Given the description of an element on the screen output the (x, y) to click on. 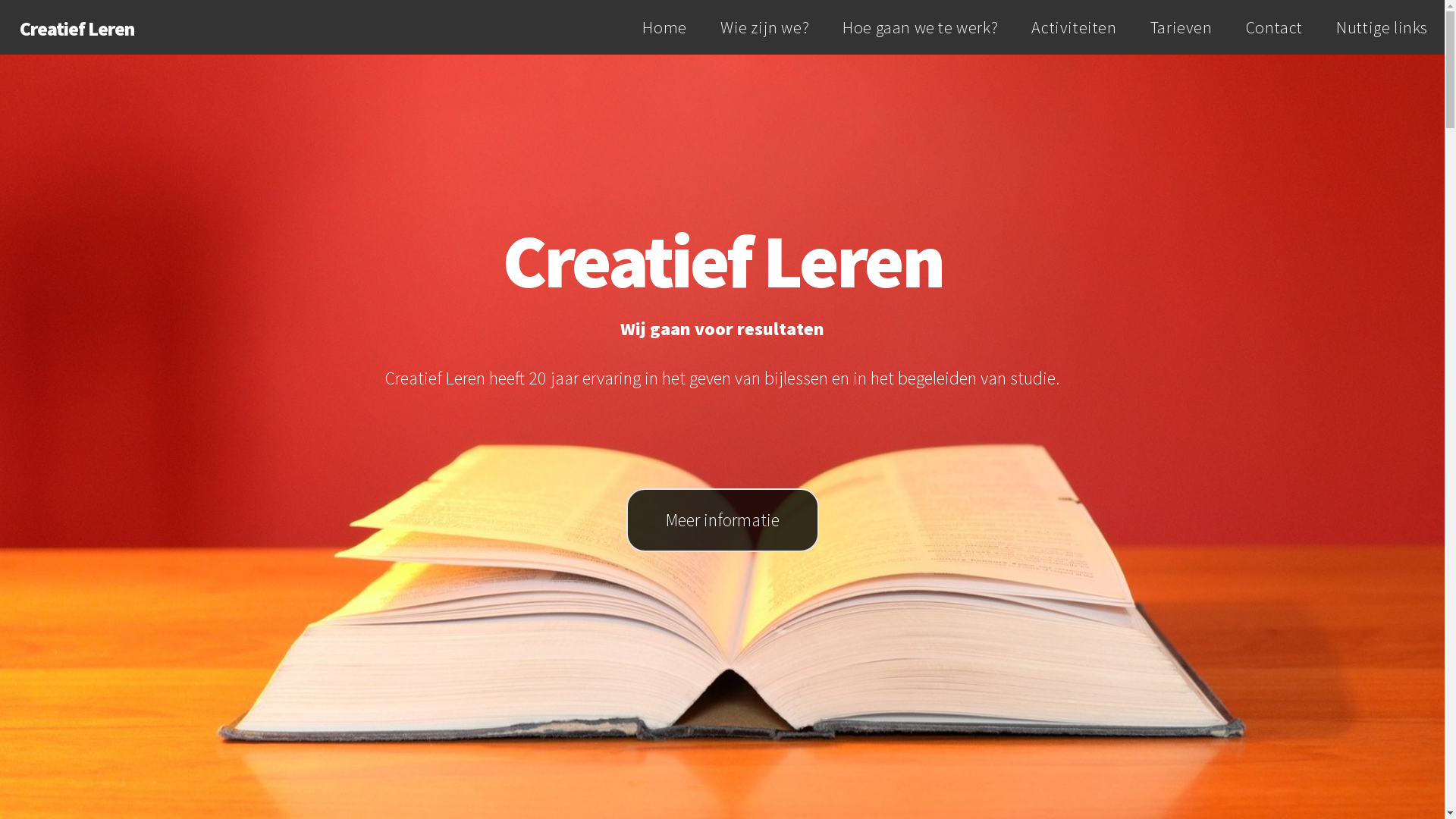
Hoe gaan we te werk? Element type: text (919, 26)
Activiteiten Element type: text (1073, 26)
Nuttige links Element type: text (1381, 26)
Contact Element type: text (1273, 26)
Meer informatie Element type: text (722, 520)
Tarieven Element type: text (1181, 26)
Home Element type: text (664, 26)
Wie zijn we? Element type: text (764, 26)
